Given the description of an element on the screen output the (x, y) to click on. 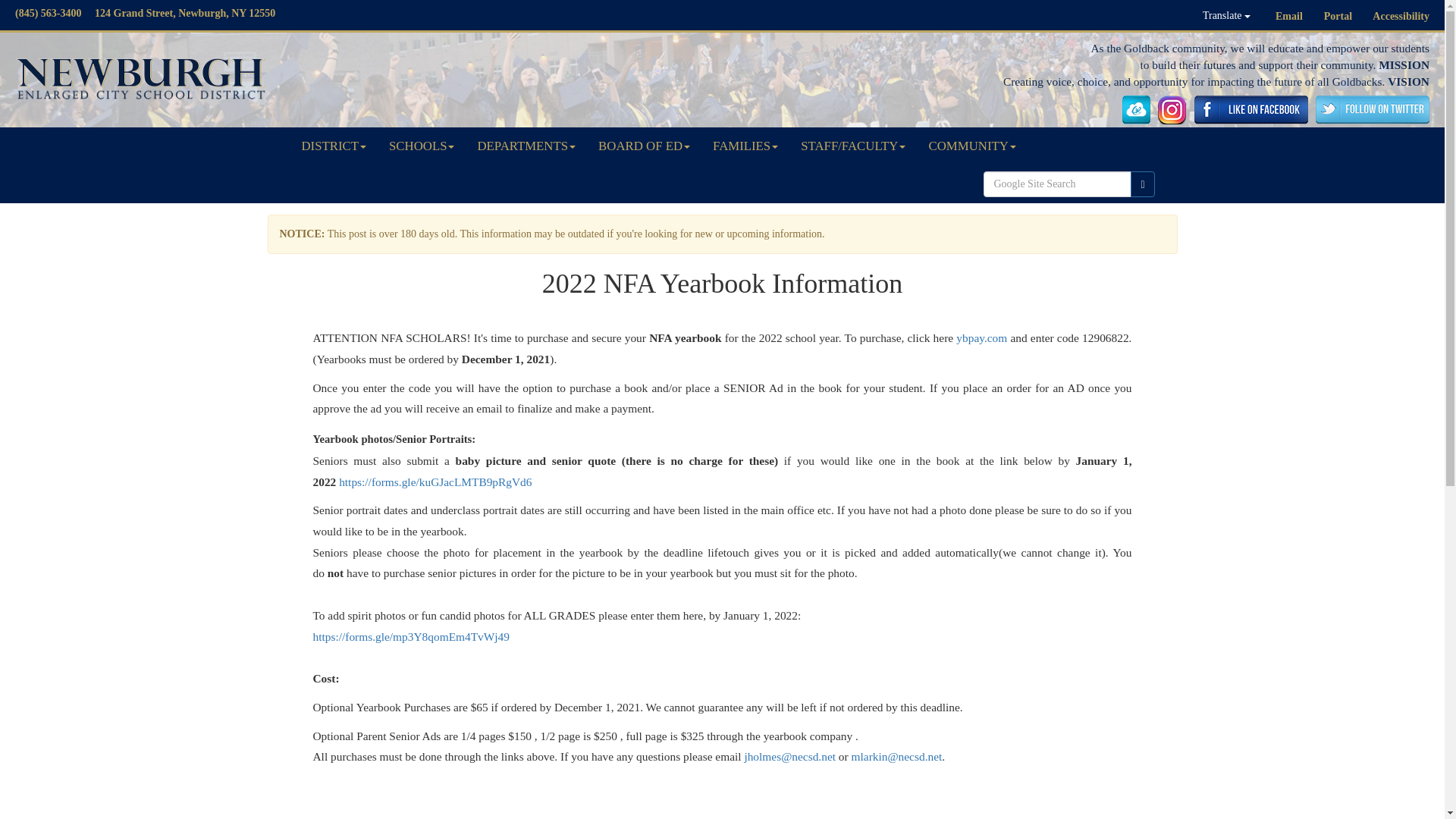
Email (1289, 16)
SCHOOLS (421, 146)
Accessibility (1401, 16)
DISTRICT (333, 146)
Translate (1226, 15)
Portal (1337, 16)
